Given the description of an element on the screen output the (x, y) to click on. 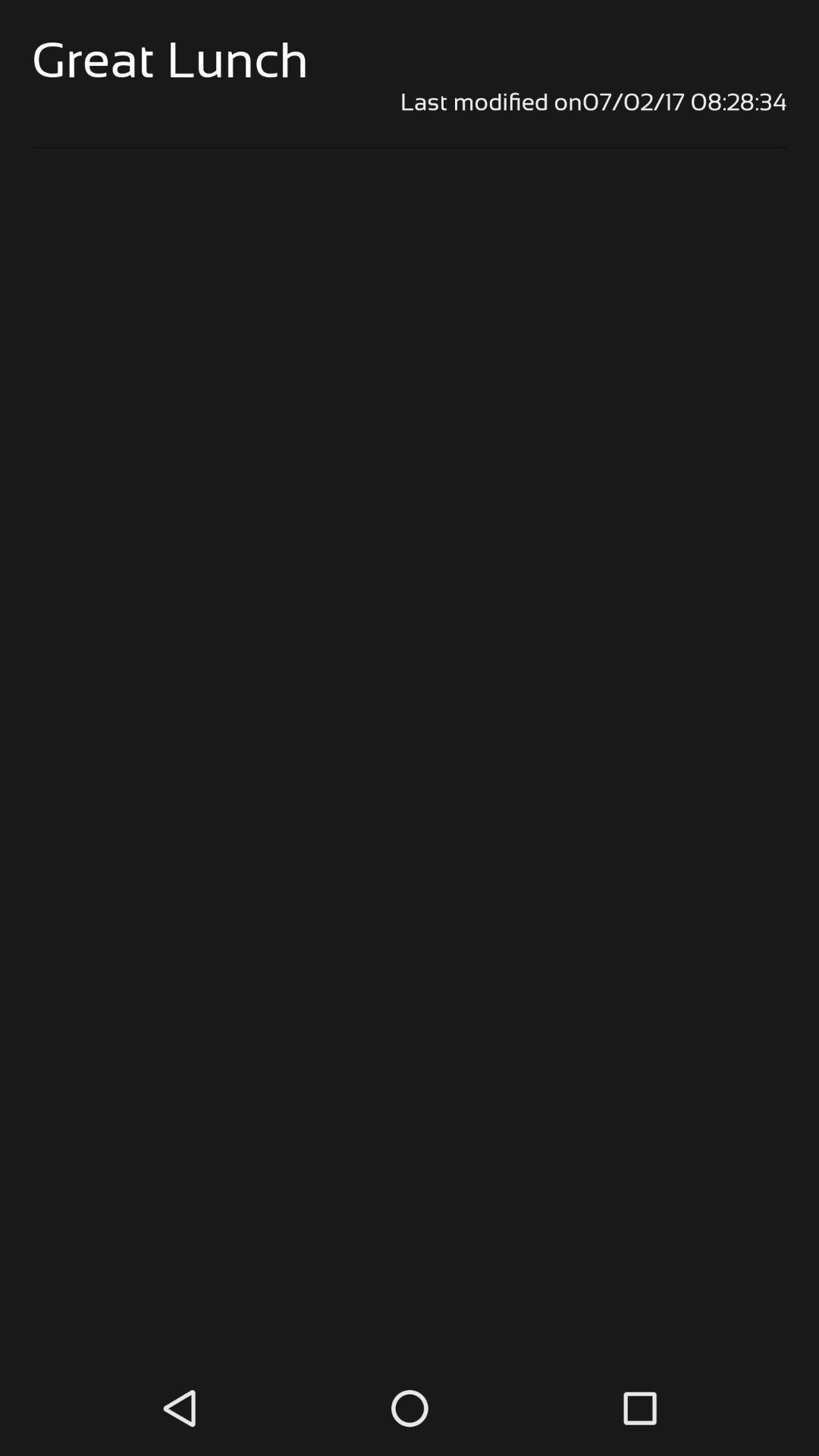
press item above the last modified on07 (169, 59)
